Given the description of an element on the screen output the (x, y) to click on. 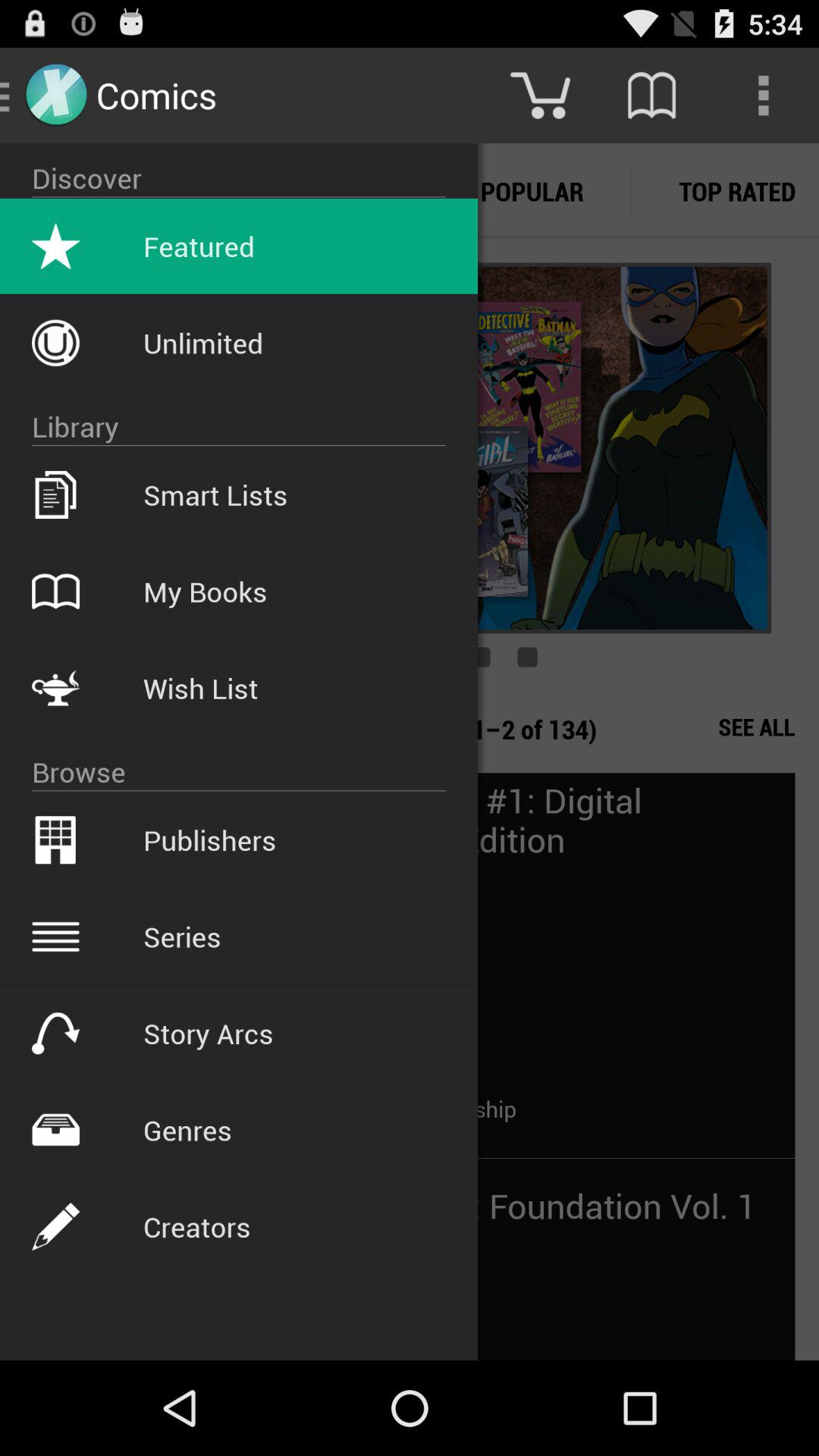
click on the button which is at the top right corner of the page (763, 95)
click on cart icon (540, 95)
